Given the description of an element on the screen output the (x, y) to click on. 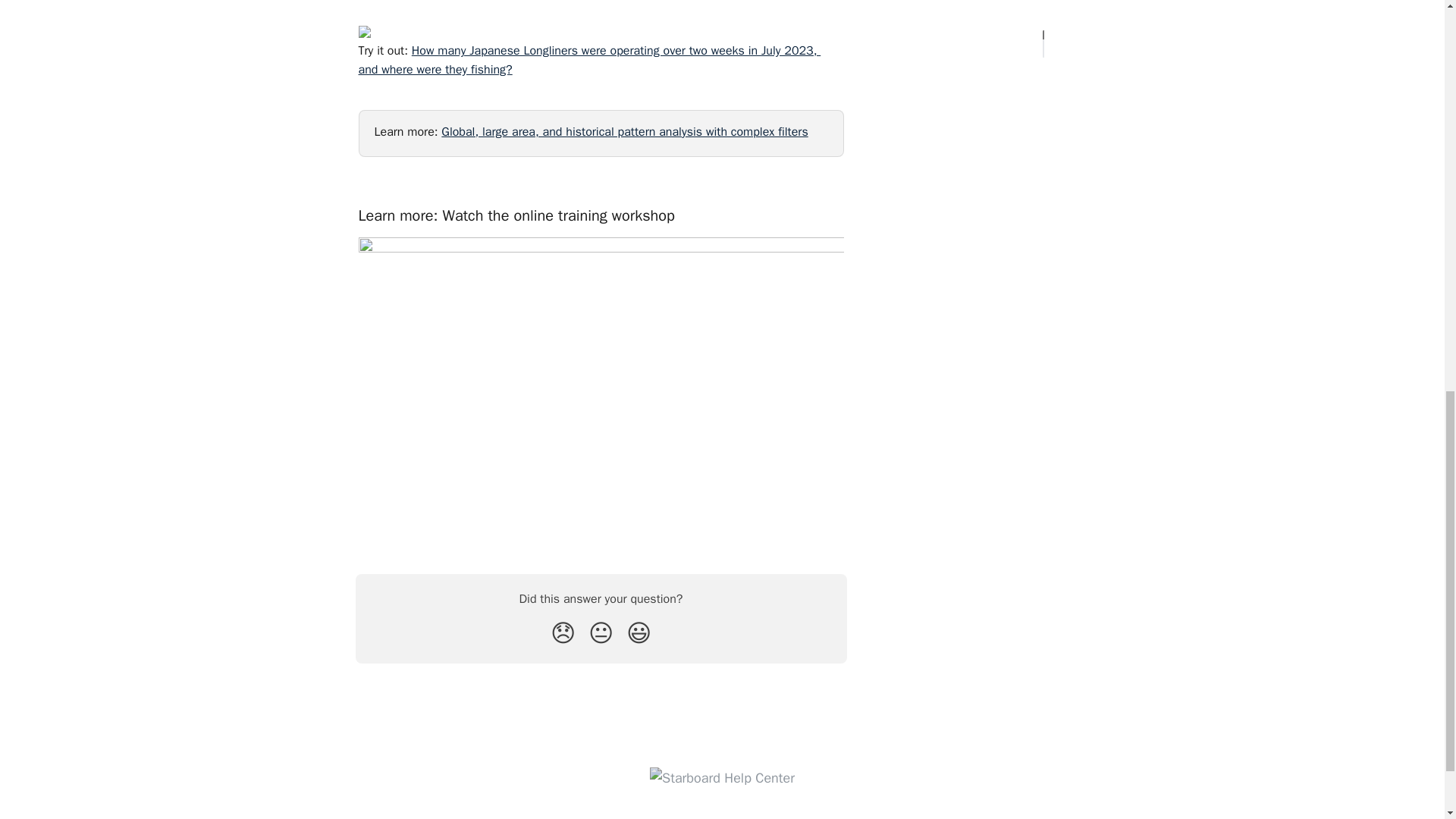
Disappointed (562, 633)
Smiley (638, 633)
Neutral (600, 633)
